Given the description of an element on the screen output the (x, y) to click on. 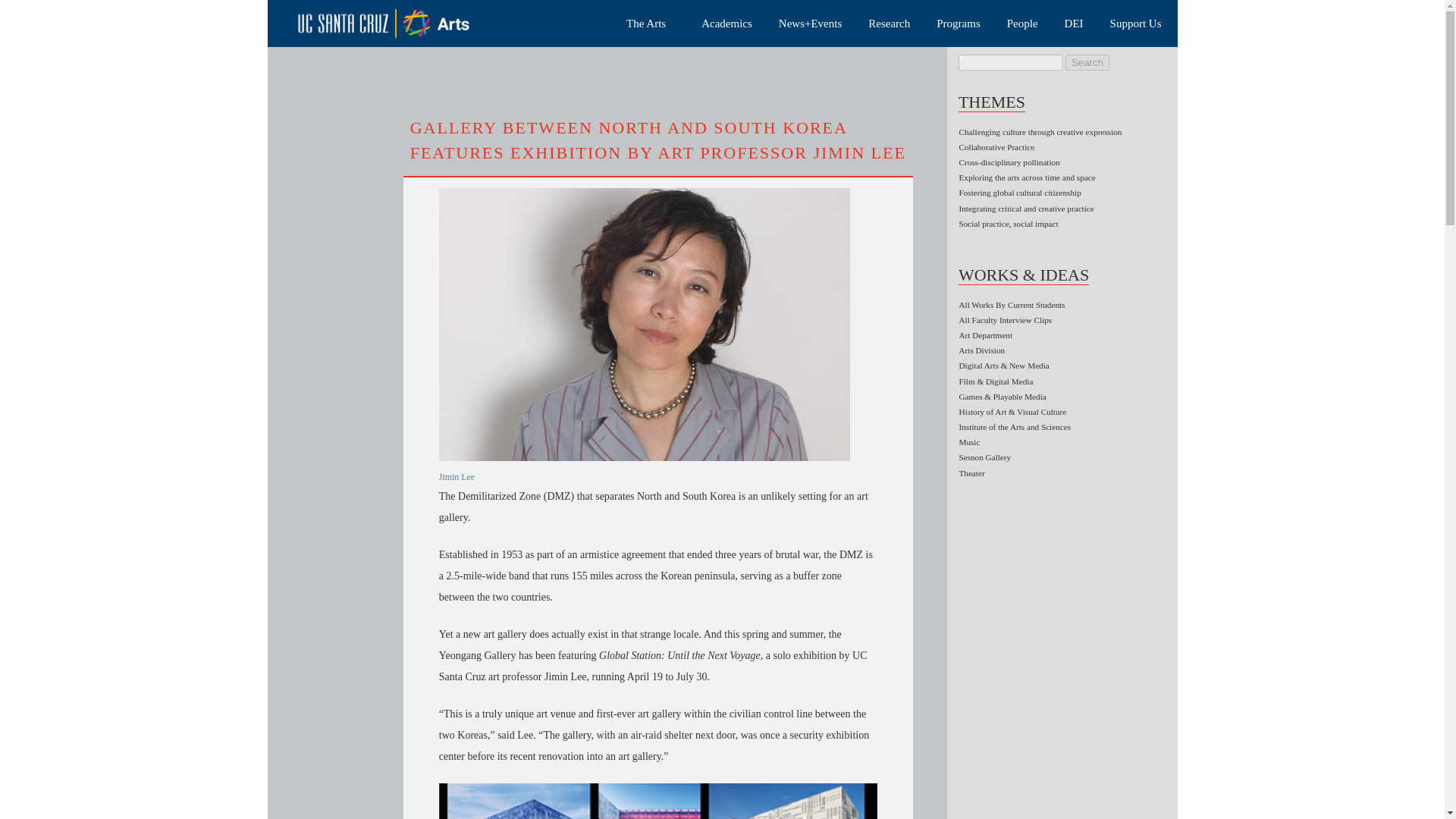
UC Santa Cruz (393, 23)
People (1024, 23)
Give to the Arts (1138, 23)
Support Us (1138, 23)
Search (1087, 62)
People (1024, 23)
DEI (1076, 23)
UC Santa Cruz (393, 23)
Diversity, Equity, and Inclusion (1076, 23)
